Given the description of an element on the screen output the (x, y) to click on. 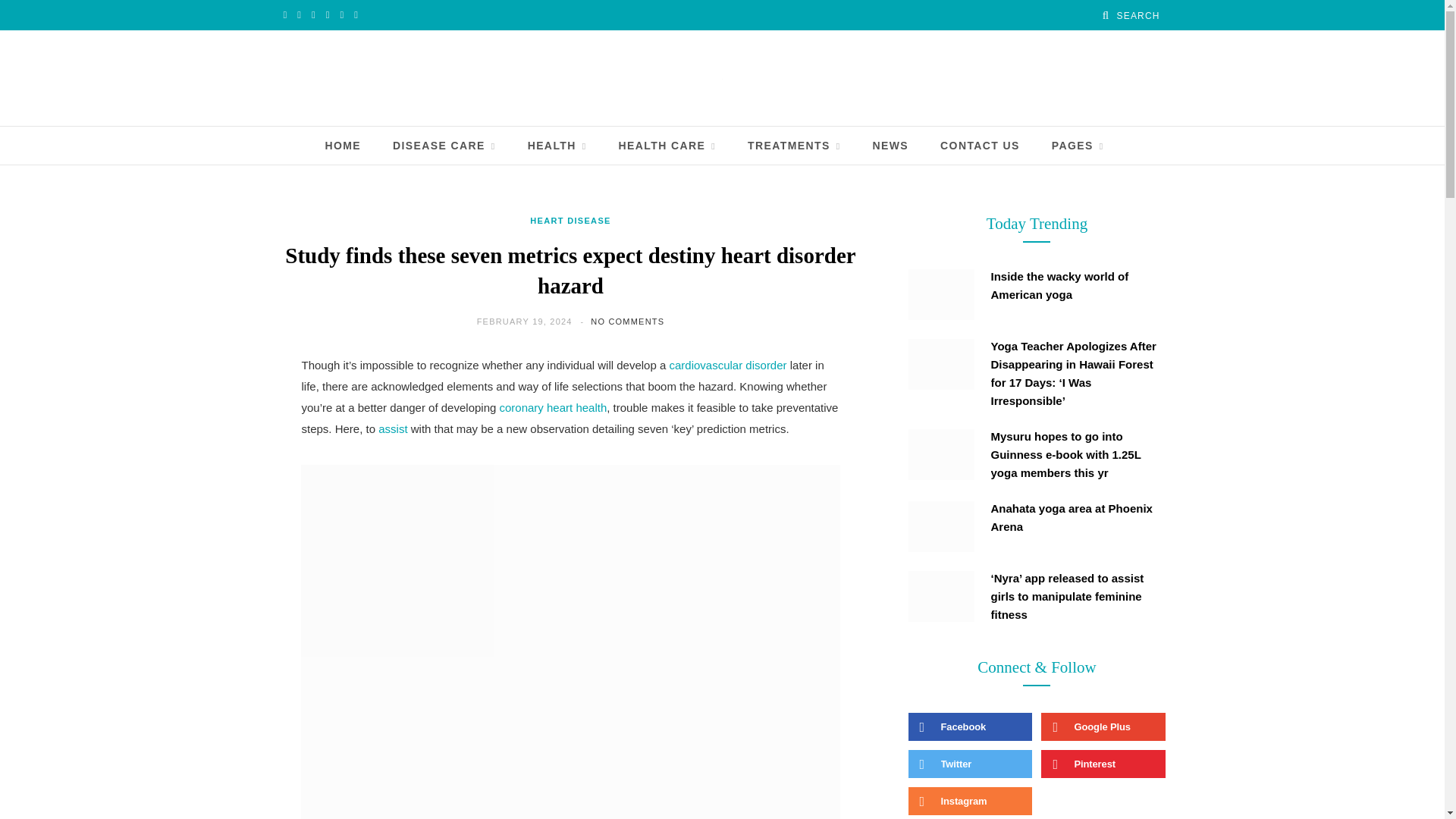
HOME (342, 145)
DISEASE CARE (444, 145)
HEALTH CARE (667, 145)
TREATMENTS (794, 145)
HEALTH (557, 145)
